Given the description of an element on the screen output the (x, y) to click on. 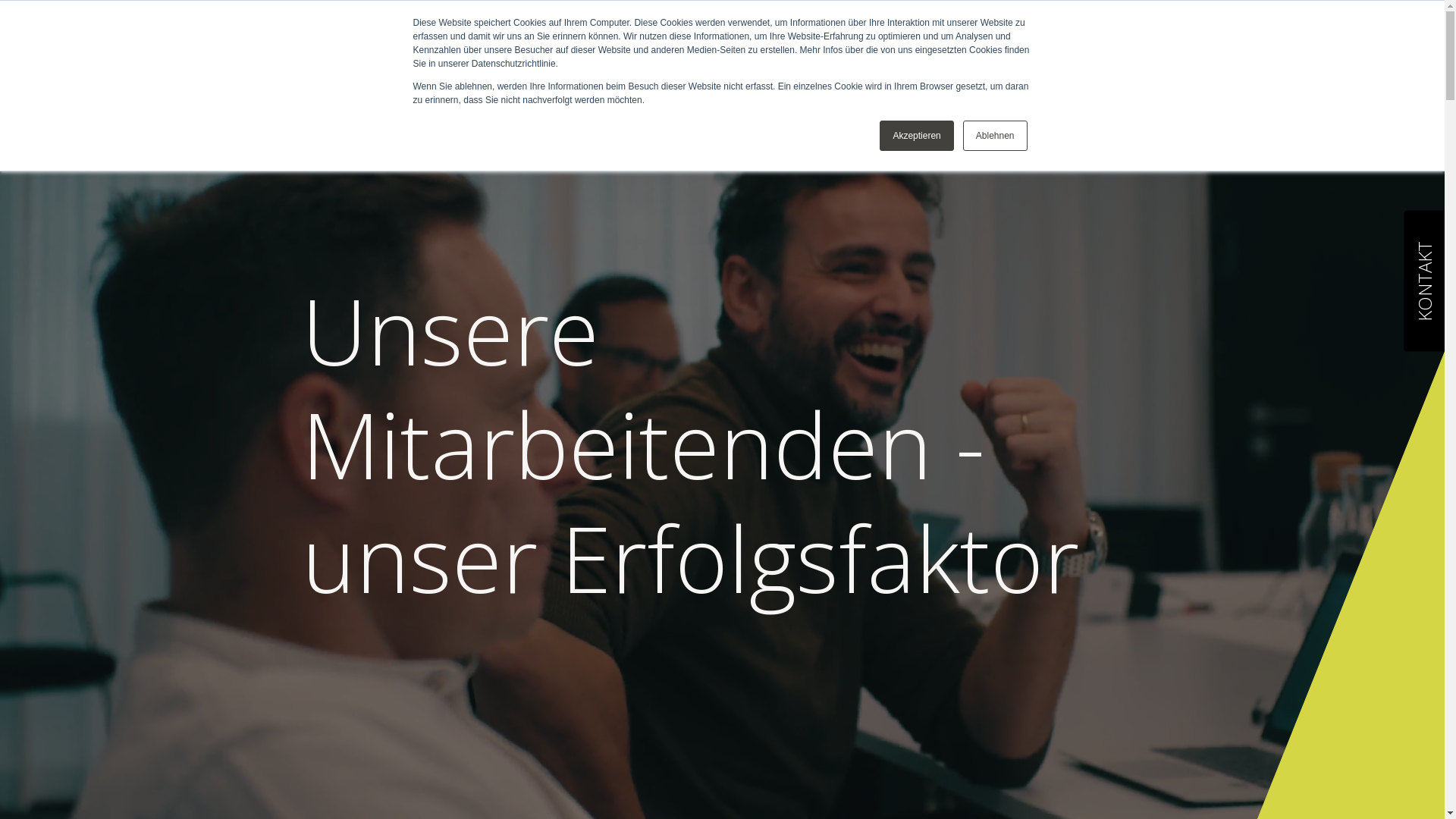
BEWERBUNGSPROZESS Element type: text (942, 47)
DU UND WIR Element type: text (671, 47)
ARBEITEN BEI UNS Element type: text (790, 47)
AXEPT Element type: hover (376, 44)
OFFENE STELLEN Element type: text (1090, 47)
Akzeptieren Element type: text (916, 135)
Ablehnen Element type: text (995, 135)
